Given the description of an element on the screen output the (x, y) to click on. 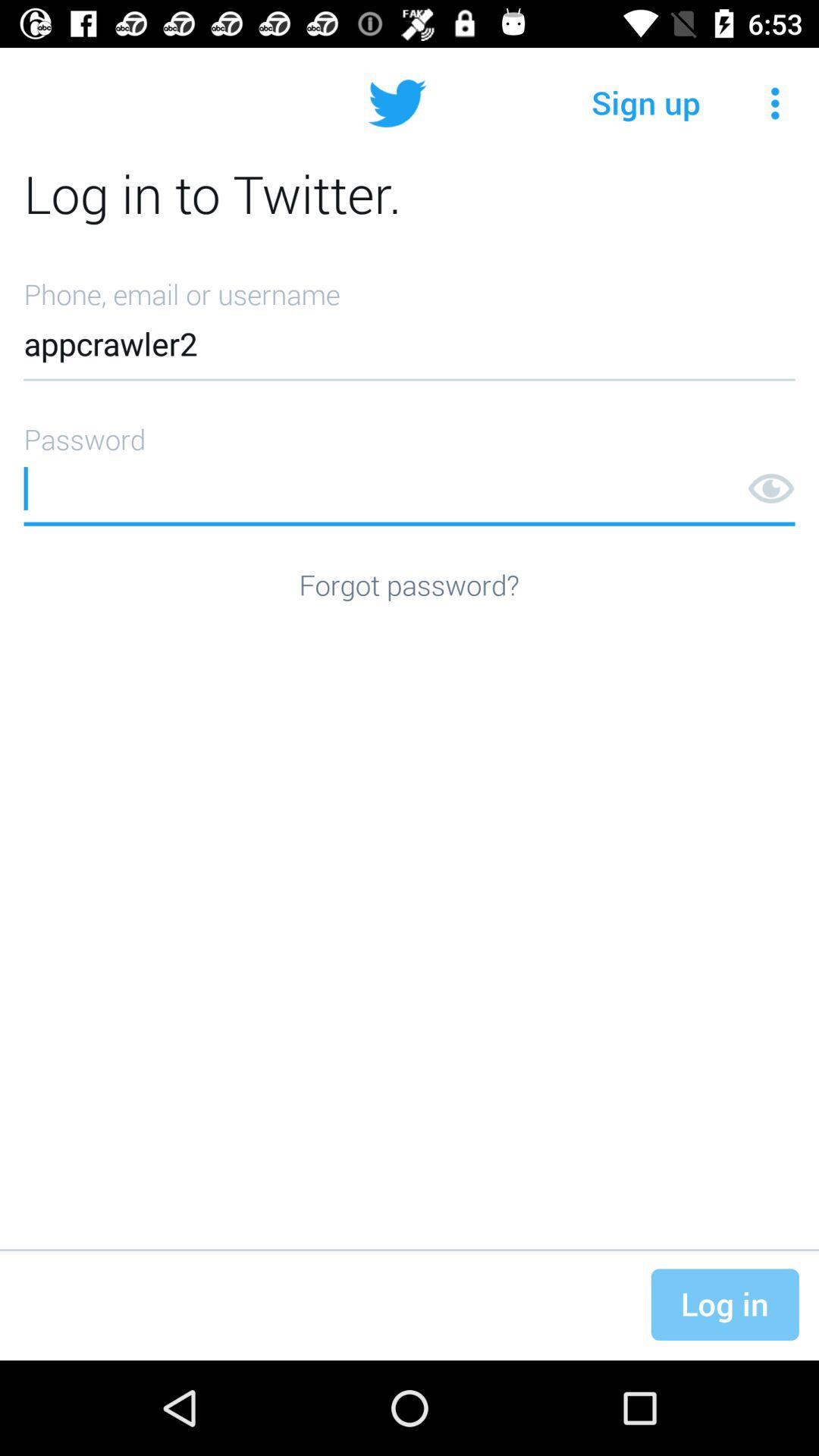
choose the icon next to sign up item (775, 103)
